Given the description of an element on the screen output the (x, y) to click on. 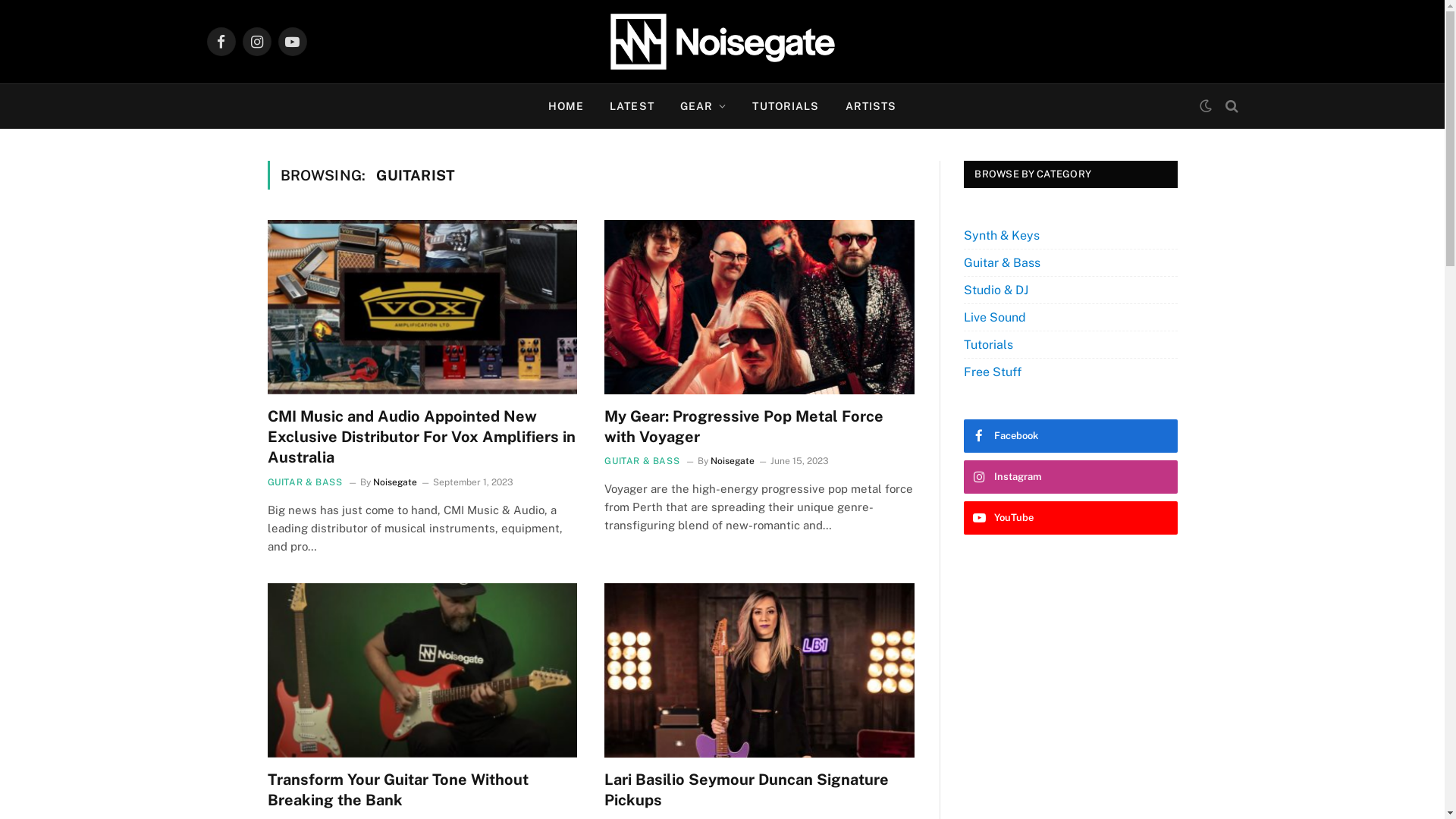
Live Sound Element type: text (994, 317)
Synth & Keys Element type: text (1001, 235)
GEAR Element type: text (703, 106)
Facebook Element type: text (220, 41)
YouTube Element type: text (291, 41)
GUITAR & BASS Element type: text (641, 460)
Lari Basilio Seymour Duncan Signature Pickups Element type: text (759, 789)
Transform Your Guitar Tone Without Breaking the Bank Element type: text (421, 789)
LATEST Element type: text (631, 106)
Guitar & Bass Element type: text (1001, 262)
Instagram Element type: text (256, 41)
HOME Element type: text (565, 106)
Free Stuff Element type: text (992, 371)
Noisegate Element type: hover (721, 41)
TUTORIALS Element type: text (785, 106)
Studio & DJ Element type: text (995, 289)
GUITAR & BASS Element type: text (304, 482)
My Gear: Progressive Pop Metal Force with Voyager Element type: hover (759, 306)
My Gear: Progressive Pop Metal Force with Voyager Element type: text (759, 426)
Tutorials Element type: text (988, 344)
Switch to Dark Design - easier on eyes. Element type: hover (1204, 105)
Noisegate Element type: text (395, 481)
Search Element type: hover (1230, 106)
Instagram Element type: text (1069, 476)
Facebook Element type: text (1069, 435)
Transform Your Guitar Tone Without Breaking the Bank Element type: hover (421, 670)
Lari Basilio Seymour Duncan Signature Pickups Element type: hover (759, 670)
Noisegate Element type: text (732, 460)
ARTISTS Element type: text (871, 106)
YouTube Element type: text (1069, 517)
